Given the description of an element on the screen output the (x, y) to click on. 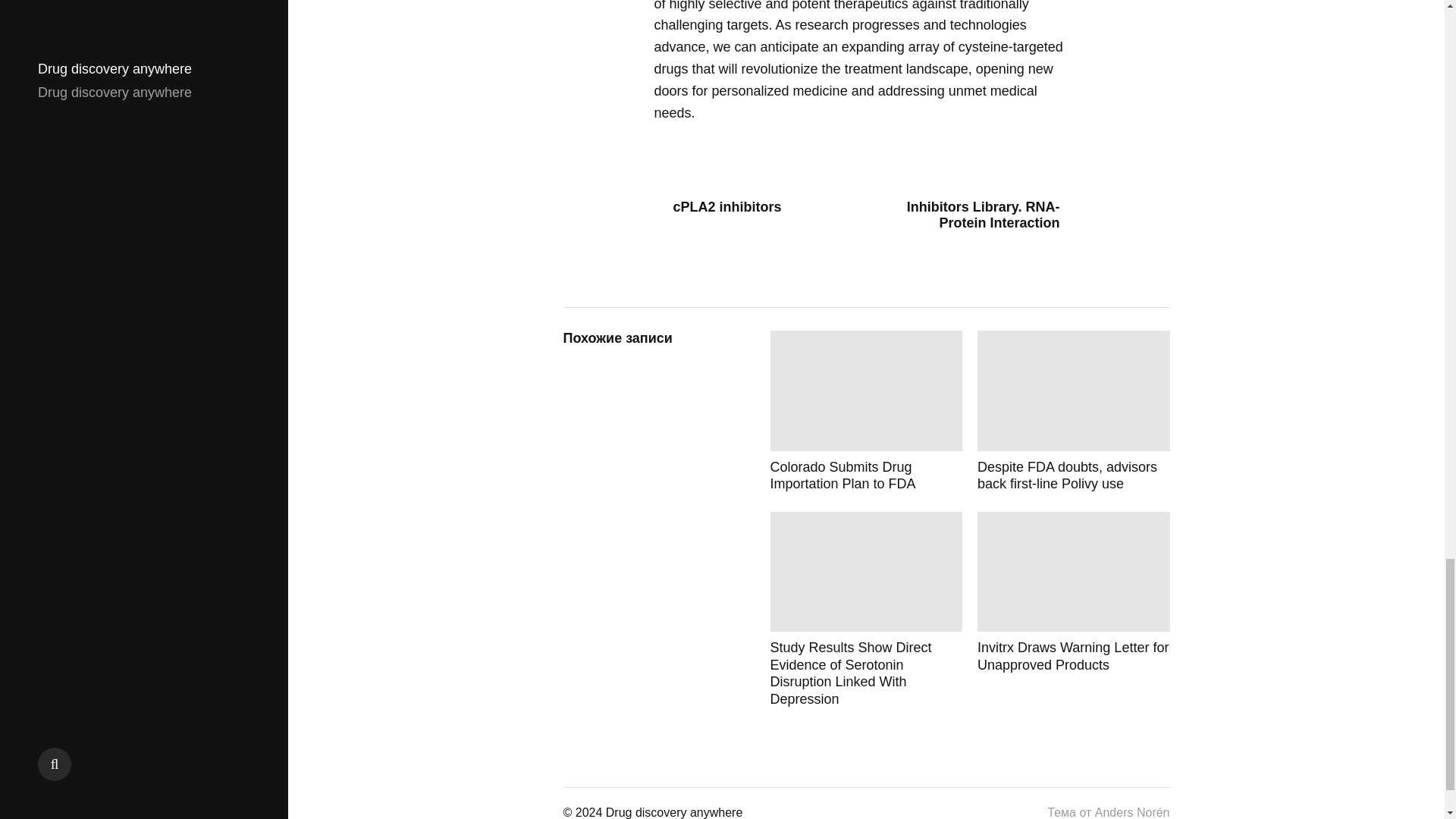
Colorado Submits Drug Importation Plan to FDA (866, 411)
Invitrx Draws Warning Letter for Unapproved Products (1073, 609)
Inhibitors Library. RNA-Protein Interaction (977, 214)
cPLA2 inhibitors (753, 207)
Despite FDA doubts, advisors back first-line Polivy use (1073, 411)
